Given the description of an element on the screen output the (x, y) to click on. 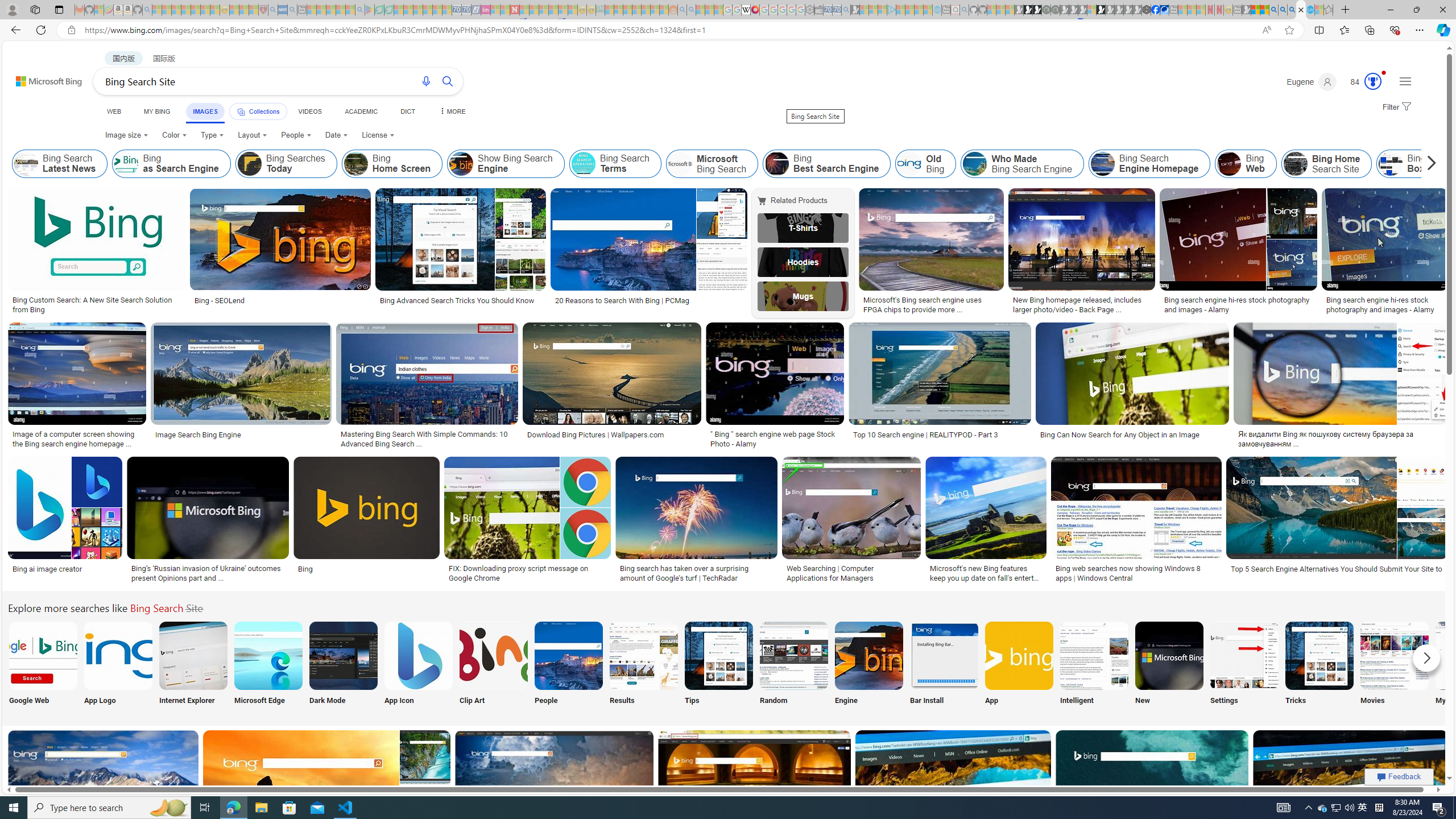
Bing - SEOLend (219, 299)
WEB (114, 111)
Engine (868, 665)
Who Made Bing Search Engine (1021, 163)
Bing Random Search (794, 654)
DICT (407, 111)
